Given the description of an element on the screen output the (x, y) to click on. 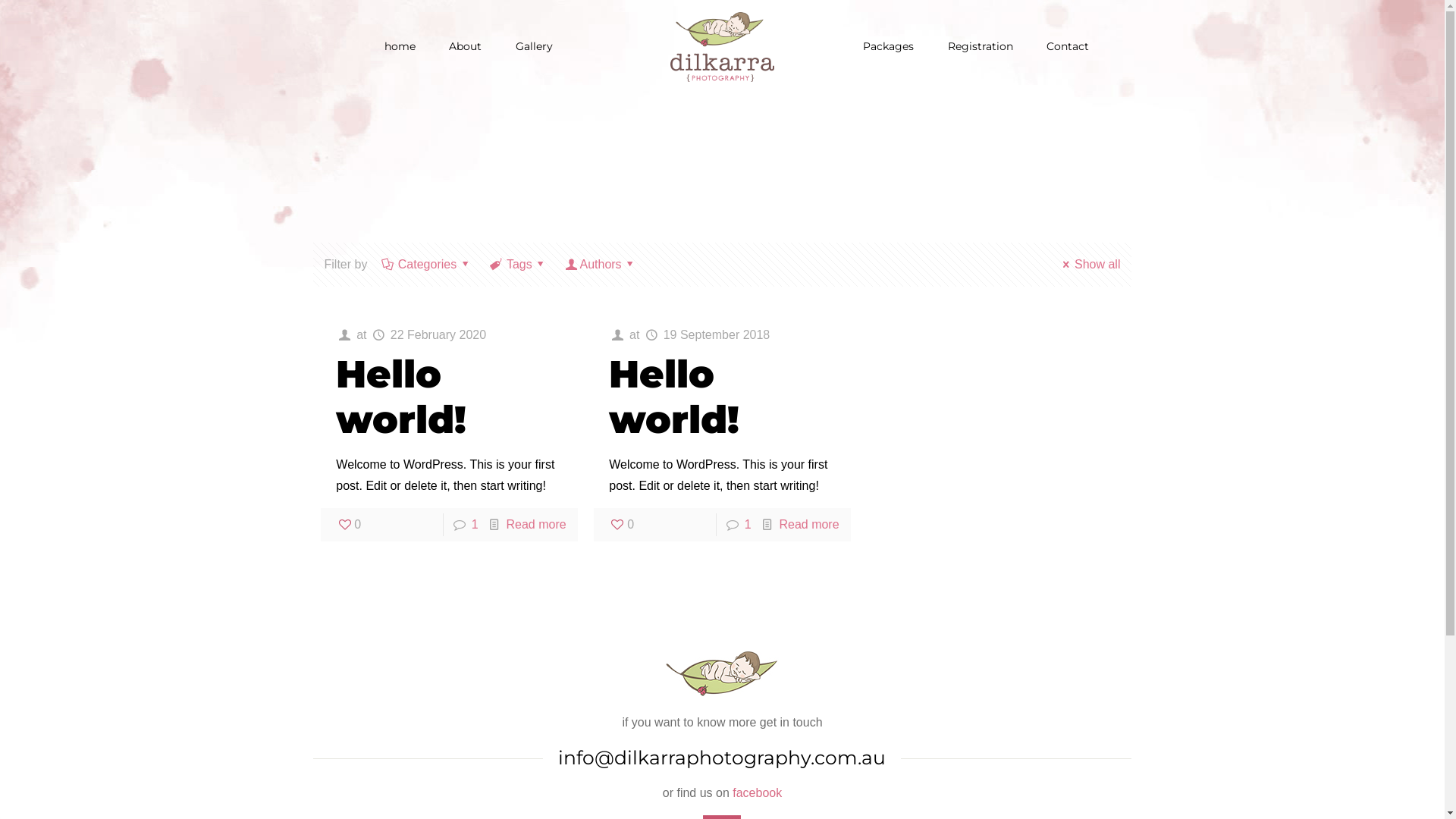
Authors Element type: text (600, 263)
baby small Element type: hover (721, 673)
facebook Element type: text (756, 792)
home Element type: text (399, 46)
0 Element type: text (620, 524)
Dilkarra Photography Element type: hover (722, 46)
Categories Element type: text (426, 263)
0 Element type: text (347, 524)
About Element type: text (464, 46)
Read more Element type: text (808, 523)
Tags Element type: text (519, 263)
Read more Element type: text (536, 523)
Show all Element type: text (1088, 263)
1 Element type: text (474, 523)
Hello world! Element type: text (673, 396)
Gallery Element type: text (533, 46)
Hello world! Element type: text (400, 396)
Contact Element type: text (1067, 46)
Packages Element type: text (887, 46)
1 Element type: text (747, 523)
Registration Element type: text (980, 46)
